Given the description of an element on the screen output the (x, y) to click on. 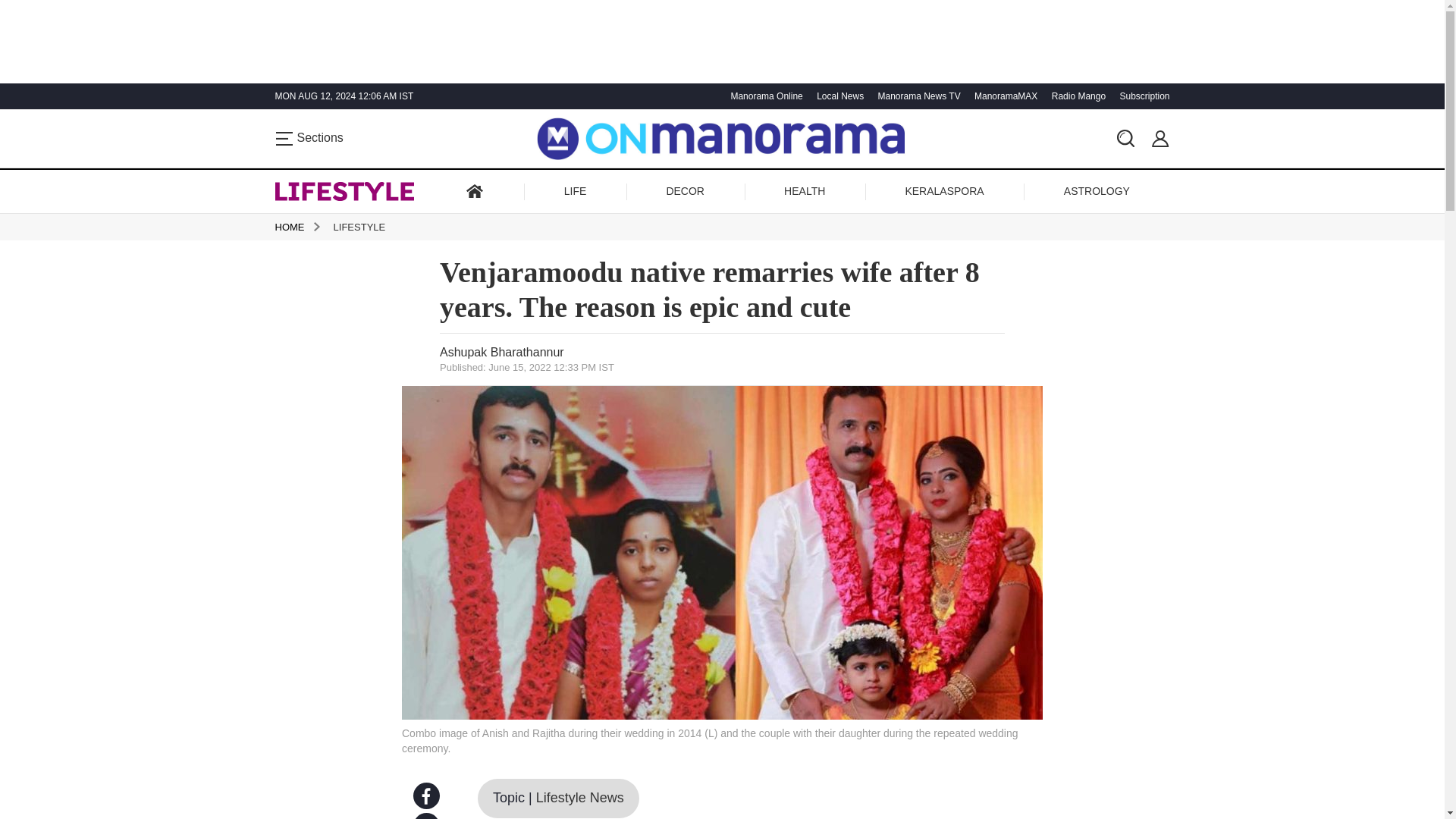
LIFE (575, 191)
Radio Mango (1076, 95)
Manorama Online (764, 95)
Local News (837, 95)
DECOR (684, 191)
KERALASPORA (943, 191)
Manorama News TV (916, 95)
Subscription (1142, 95)
ManoramaMAX (1003, 95)
HEALTH (804, 191)
